Given the description of an element on the screen output the (x, y) to click on. 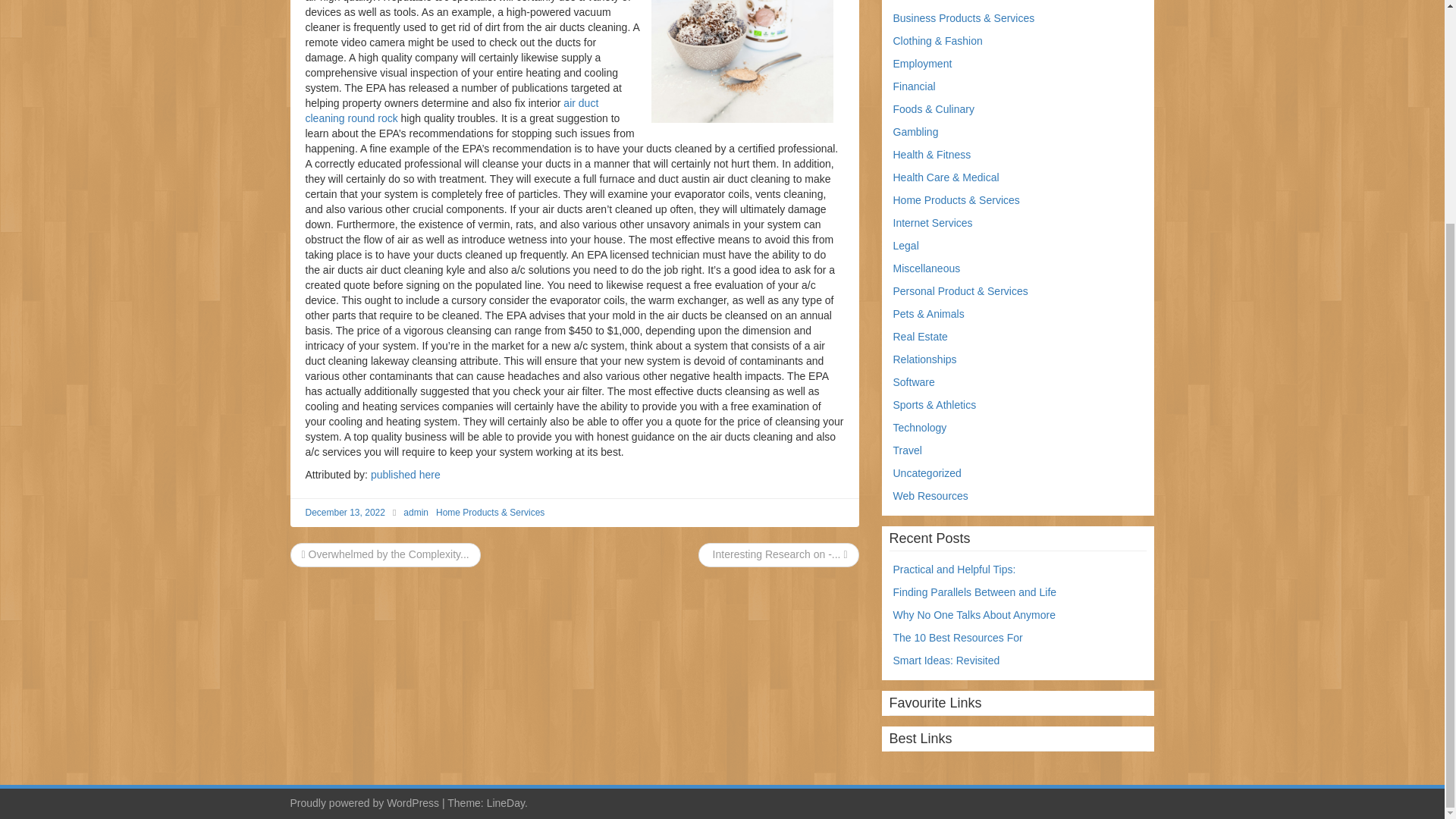
air duct cleaning round rock (451, 110)
December 13, 2022 (344, 511)
Gambling (916, 132)
Uncategorized (926, 472)
Internet Services (932, 223)
Finding Parallels Between and Life (975, 592)
Software (913, 381)
Web Resources (930, 495)
Practical and Helpful Tips: (954, 569)
Financial (914, 86)
Relationships (924, 358)
 Overwhelmed by the Complexity... (384, 553)
Business (914, 0)
Technology (920, 427)
Real Estate (920, 336)
